Given the description of an element on the screen output the (x, y) to click on. 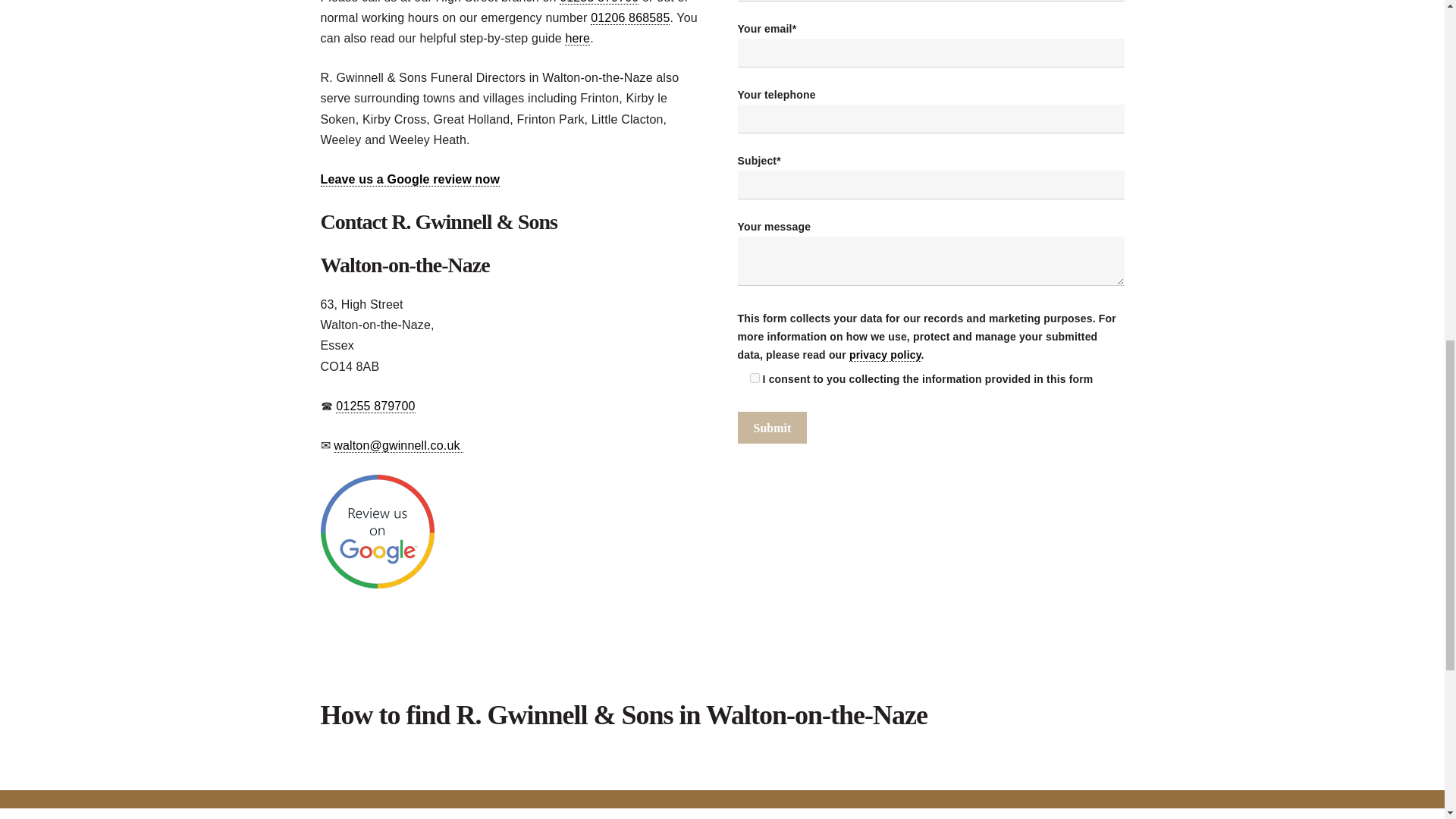
1 (753, 378)
Submit (771, 427)
Review us on Google (376, 584)
here (576, 38)
Call 01206 868585 (630, 18)
01255 879700 (599, 2)
01206 868585 (630, 18)
01255 879700 (375, 406)
Leave us a Google review now (409, 179)
